Given the description of an element on the screen output the (x, y) to click on. 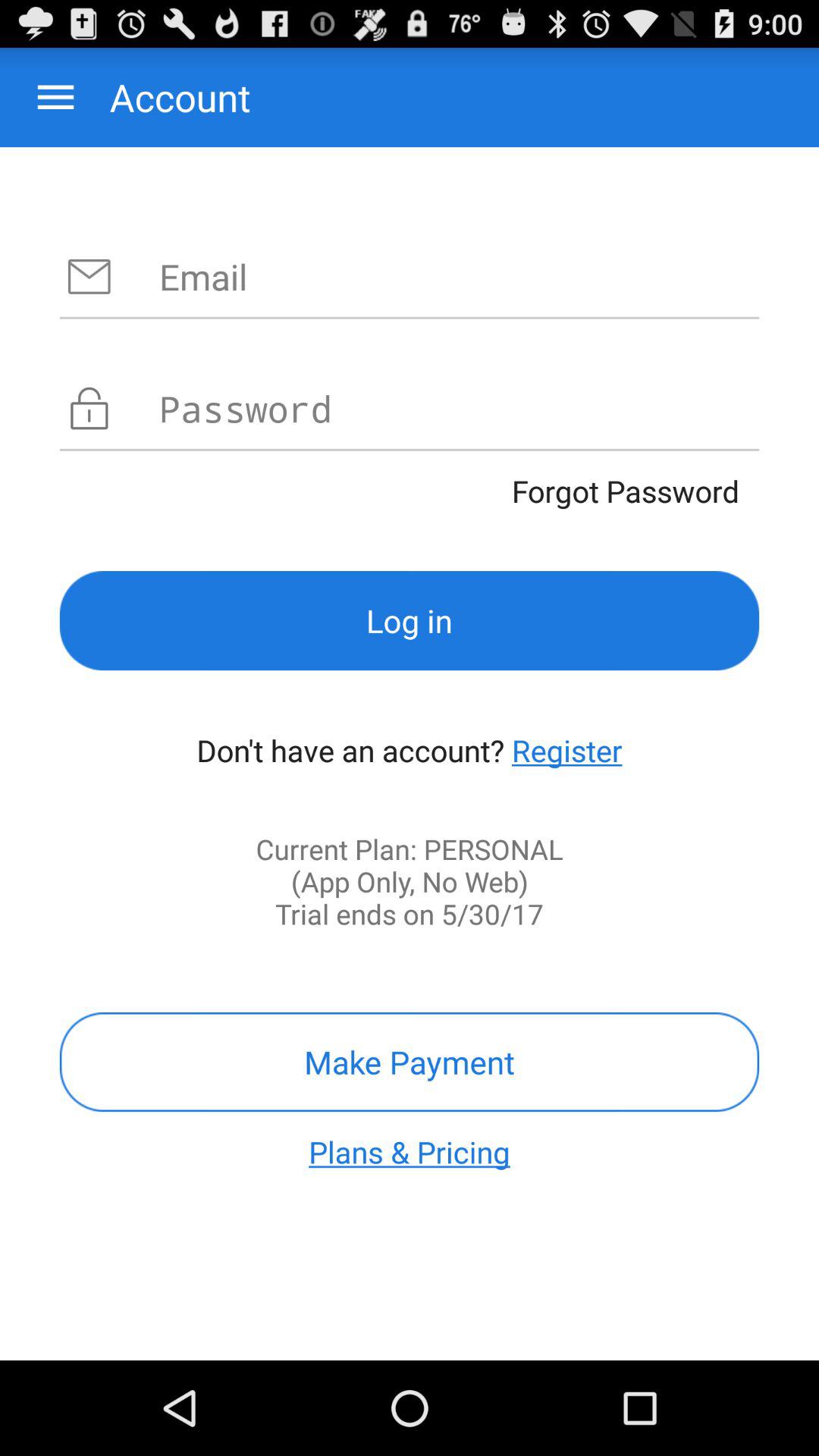
launch the icon to the right of the don t have app (566, 750)
